Given the description of an element on the screen output the (x, y) to click on. 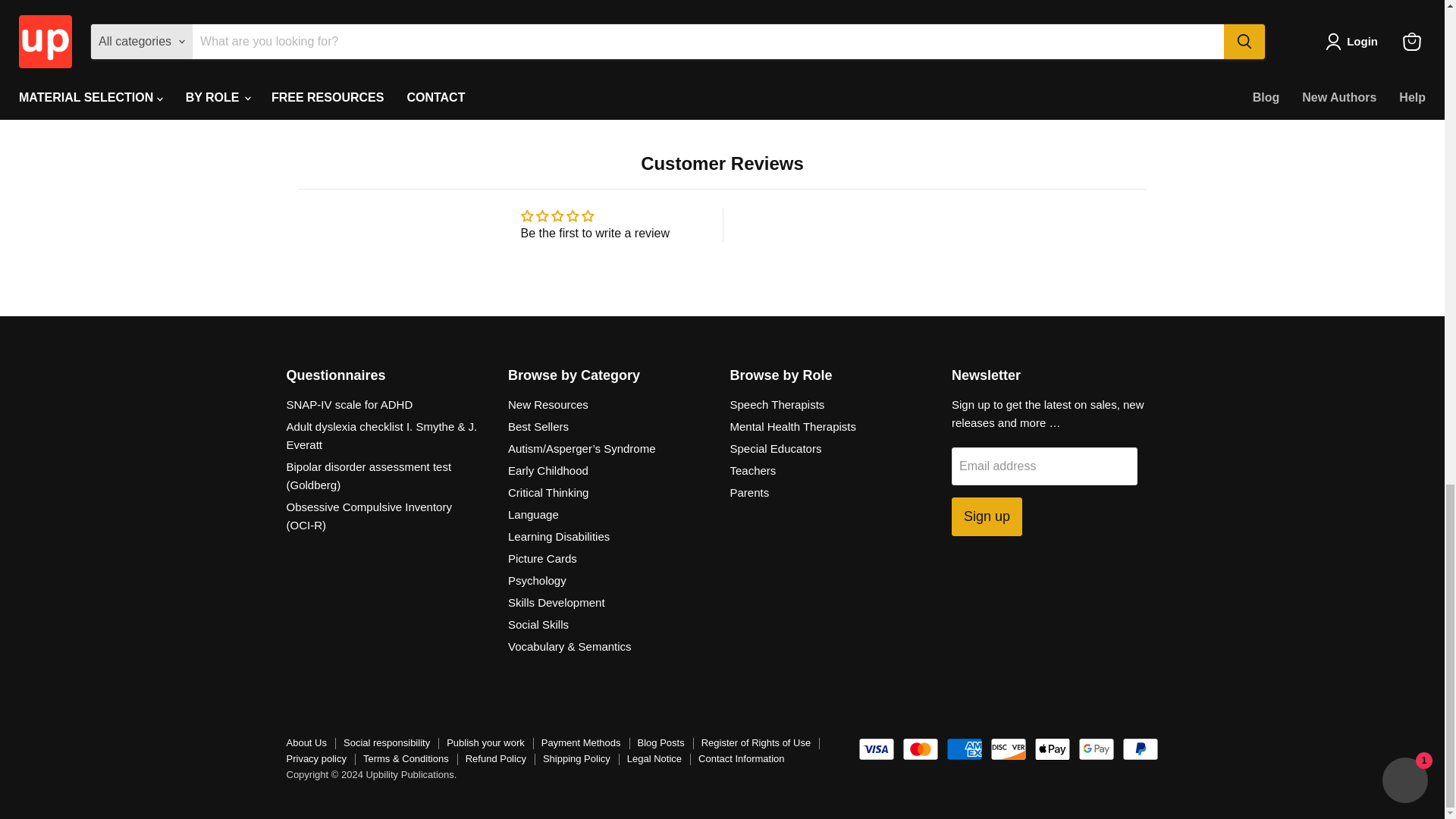
Mastercard (920, 748)
Visa (877, 748)
